Given the description of an element on the screen output the (x, y) to click on. 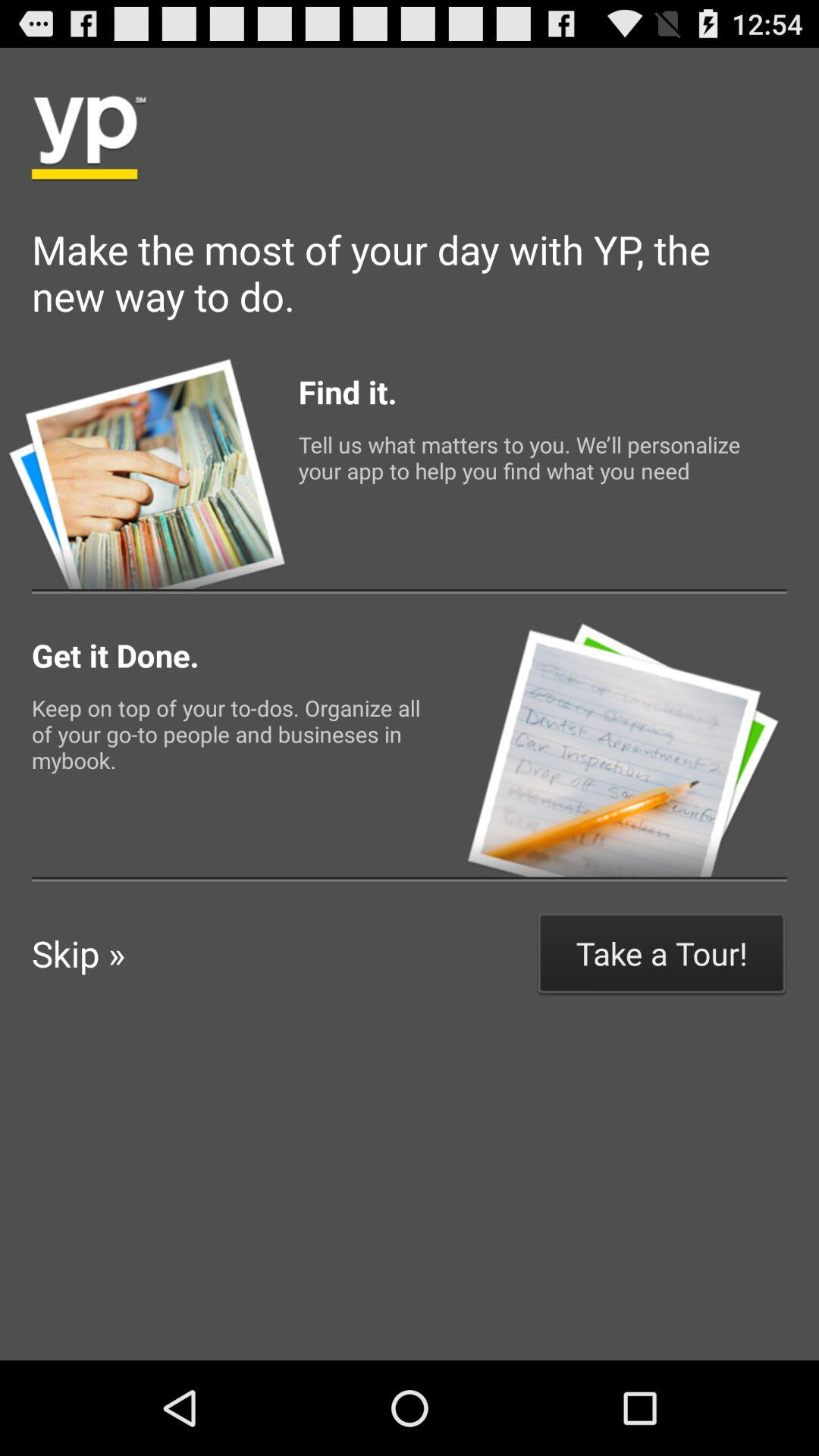
choose take a tour! icon (661, 953)
